Given the description of an element on the screen output the (x, y) to click on. 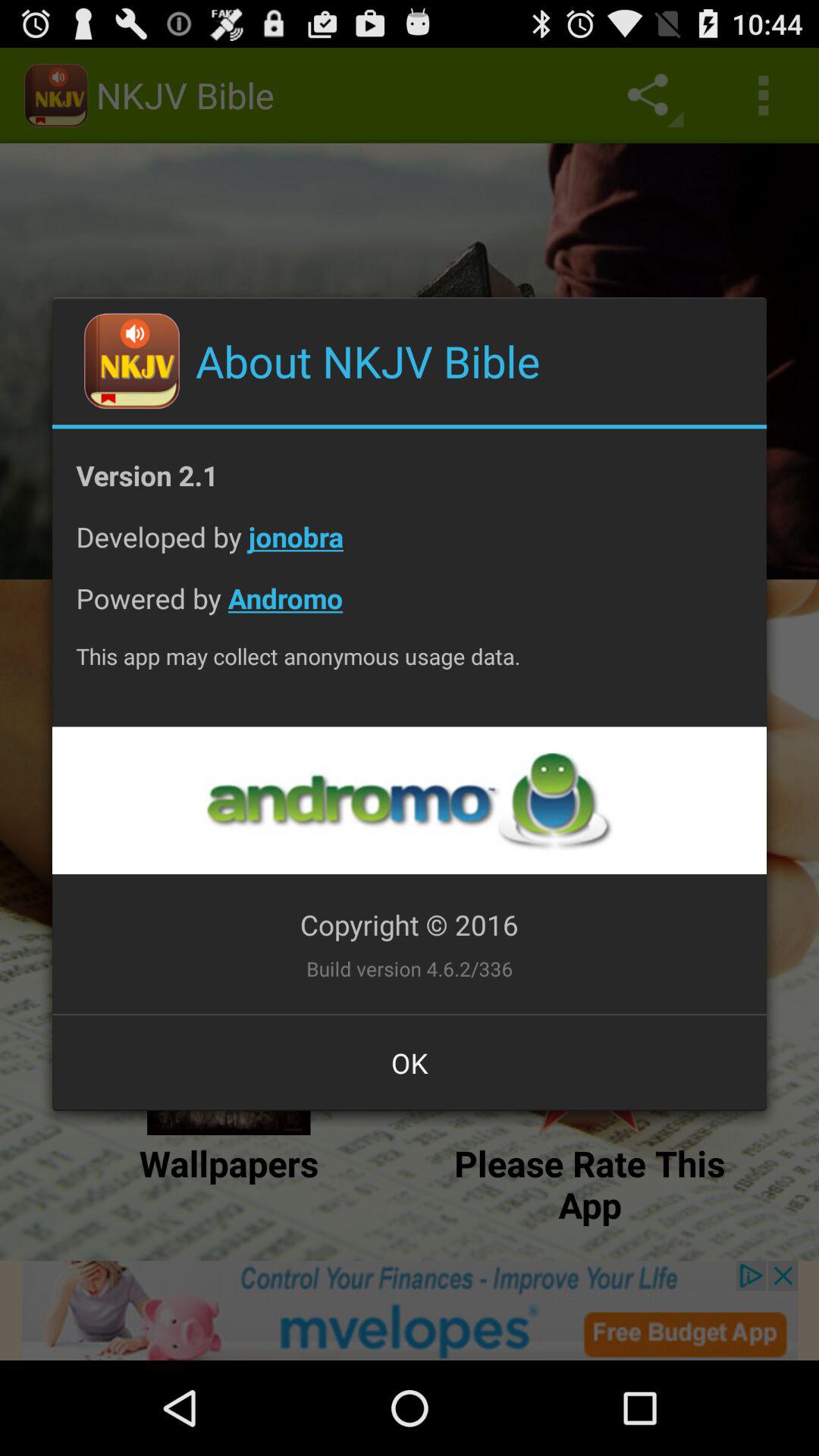
turn on icon above powered by andromo (409, 548)
